Given the description of an element on the screen output the (x, y) to click on. 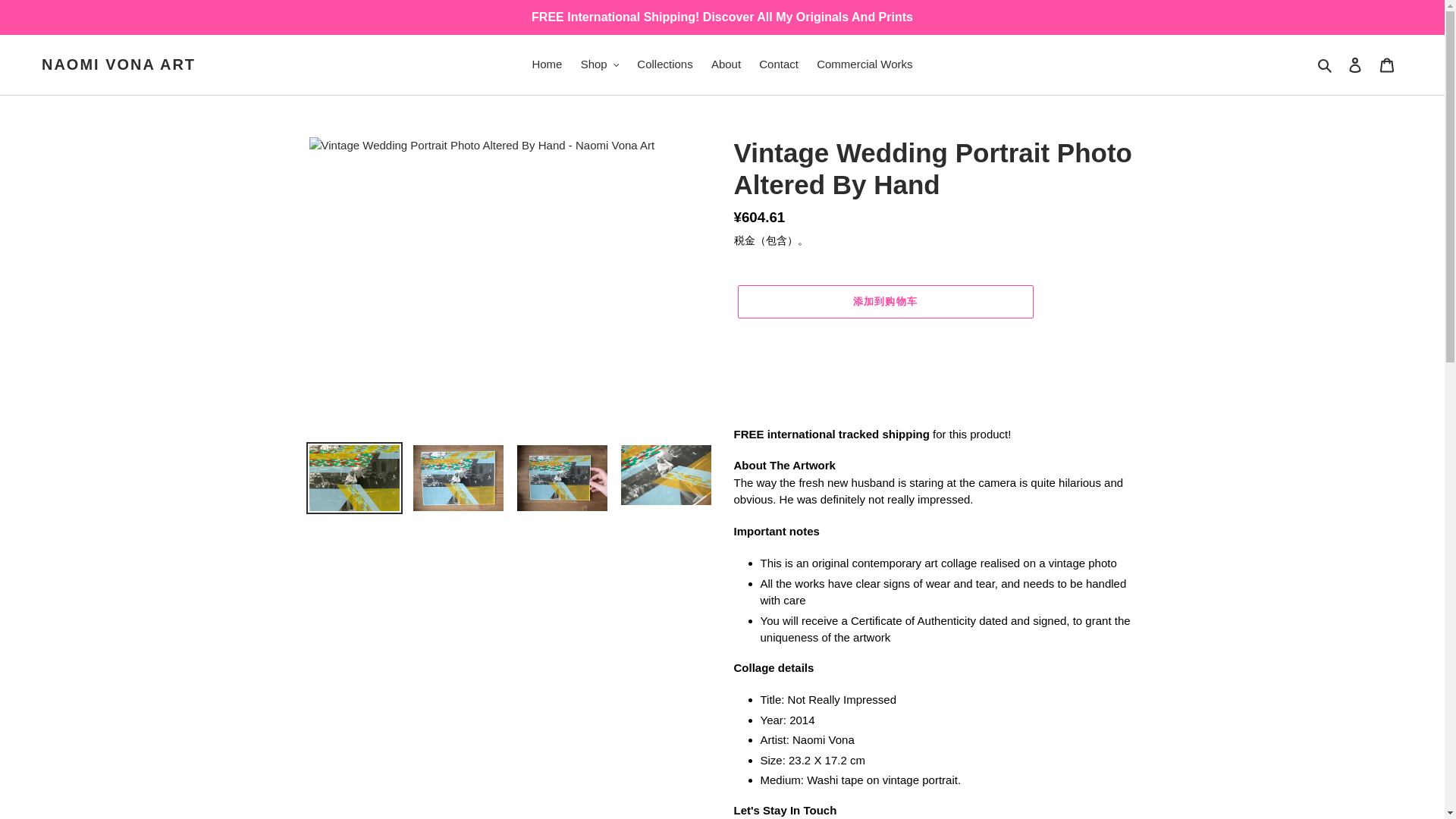
Collections (664, 65)
Shop (600, 65)
NAOMI VONA ART (118, 64)
Home (546, 65)
About (725, 65)
Commercial Works (864, 65)
Contact (778, 65)
